Given the description of an element on the screen output the (x, y) to click on. 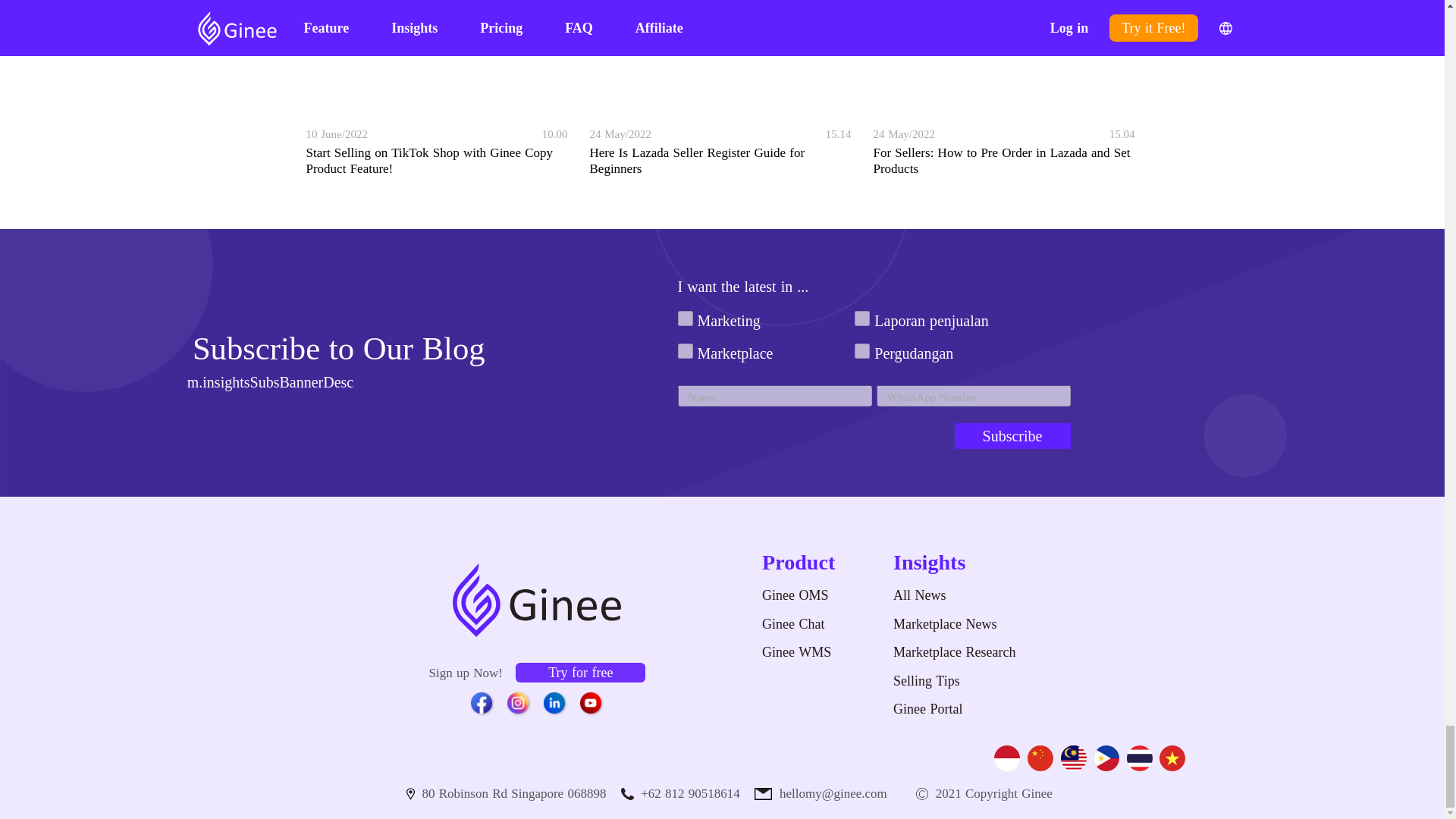
Pergudangan (861, 350)
Marketplace (685, 350)
All News (953, 596)
Marketing (685, 318)
Marketplace News (944, 623)
Ginee Portal (927, 708)
Marketplace Research (953, 652)
Selling Tips (926, 680)
Laporan penjualan (861, 318)
